Given the description of an element on the screen output the (x, y) to click on. 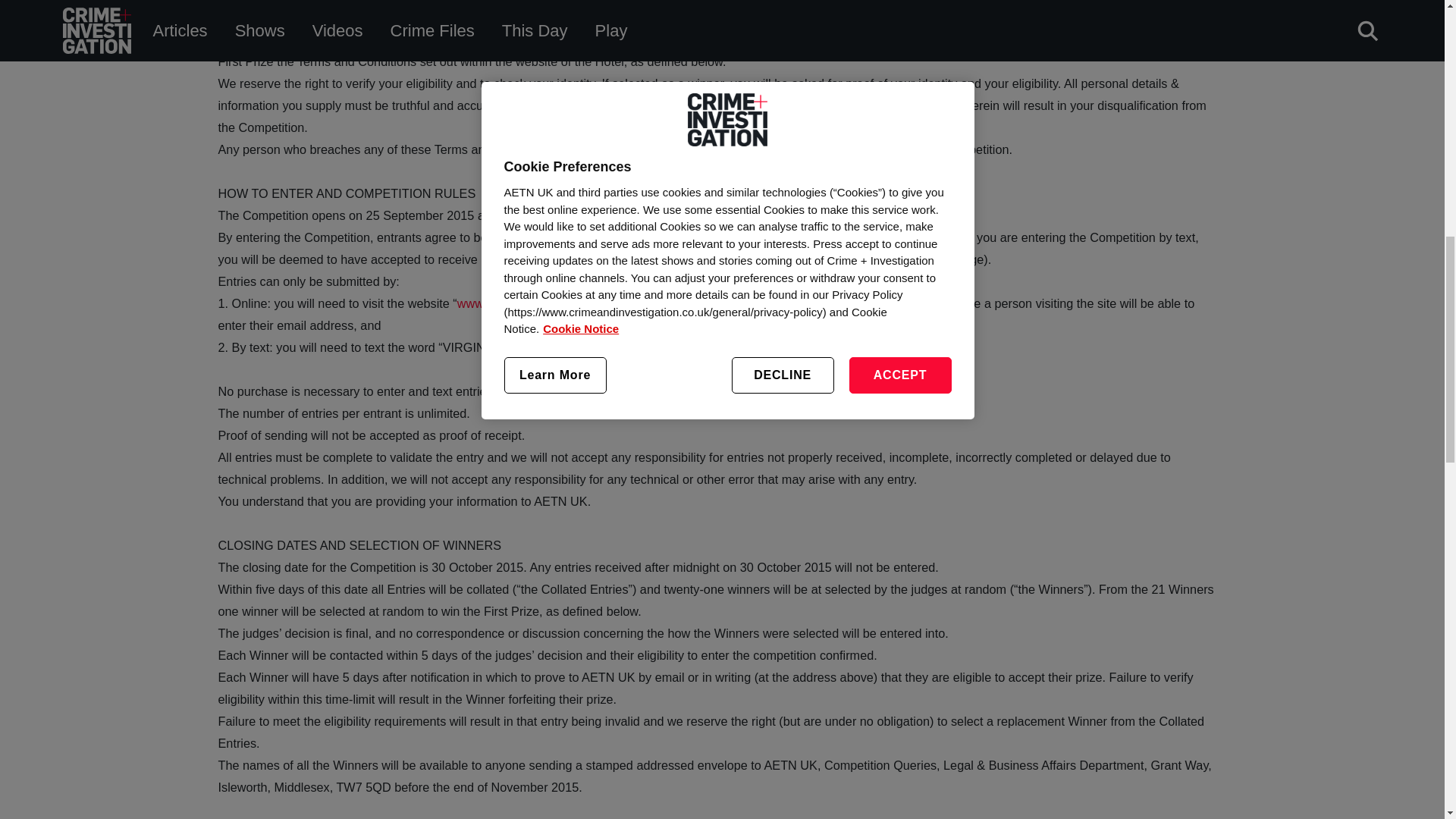
www.crimeandinvestigation.co.uk (548, 303)
